Given the description of an element on the screen output the (x, y) to click on. 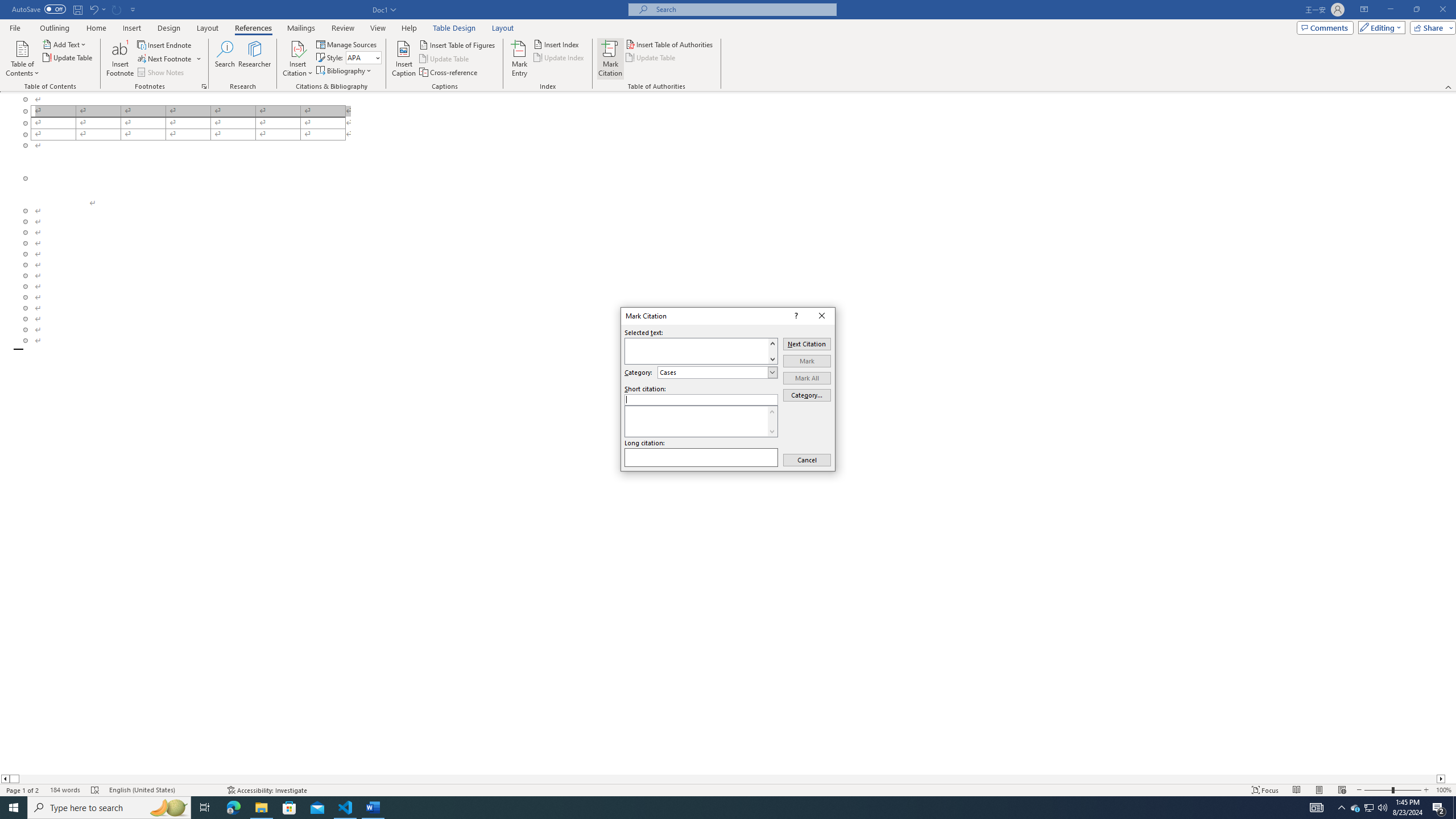
Manage Sources... (347, 44)
Word Count 184 words (64, 790)
Microsoft Edge (233, 807)
Add Text (65, 44)
Category: (717, 372)
Bibliography (344, 69)
Insert Footnote (119, 58)
Line down (772, 431)
Line up (772, 411)
